Given the description of an element on the screen output the (x, y) to click on. 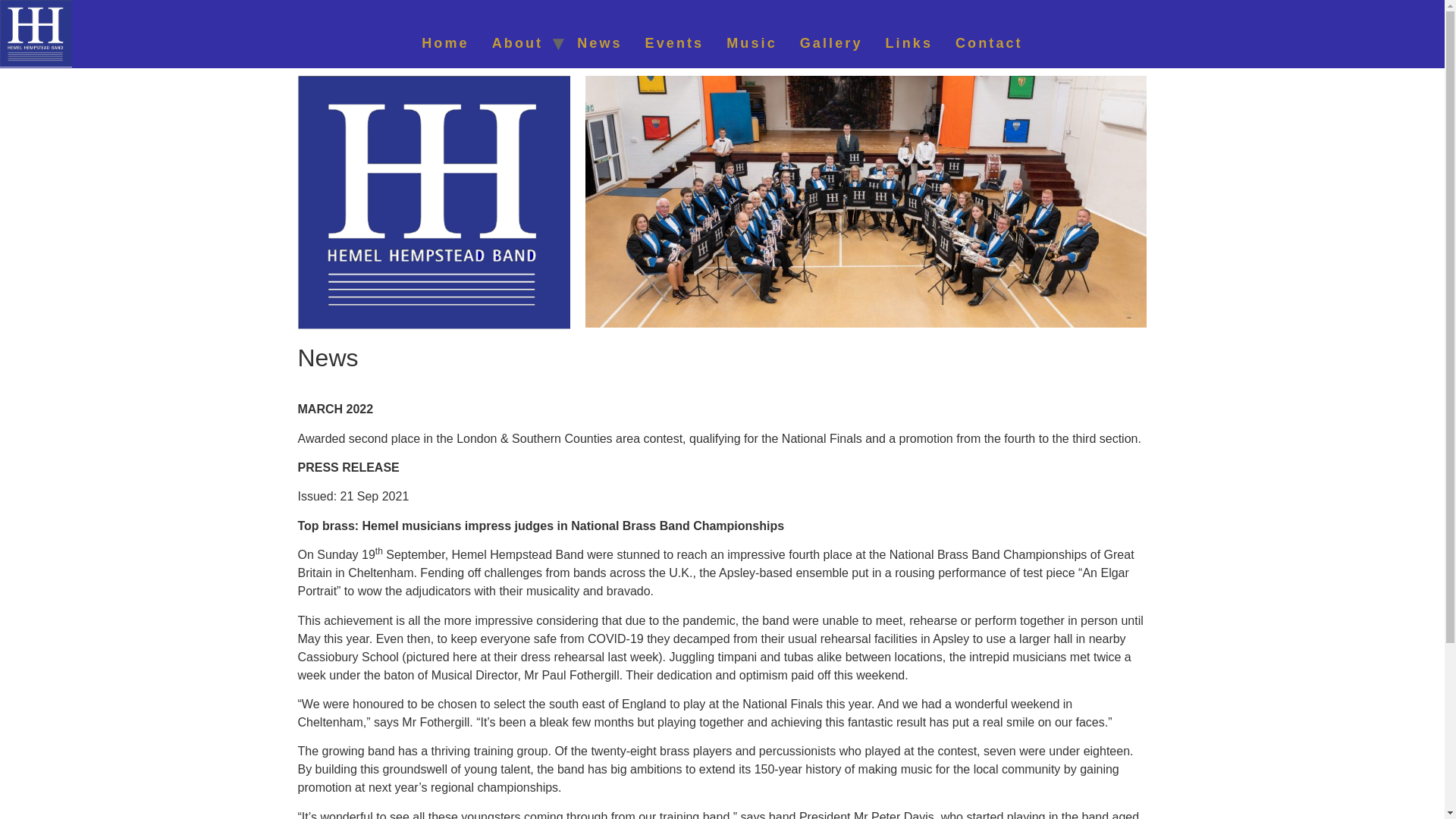
Gallery (832, 43)
Links (908, 43)
About (517, 43)
News (599, 43)
Contact (988, 43)
Home (445, 43)
Music (751, 43)
Events (674, 43)
